Given the description of an element on the screen output the (x, y) to click on. 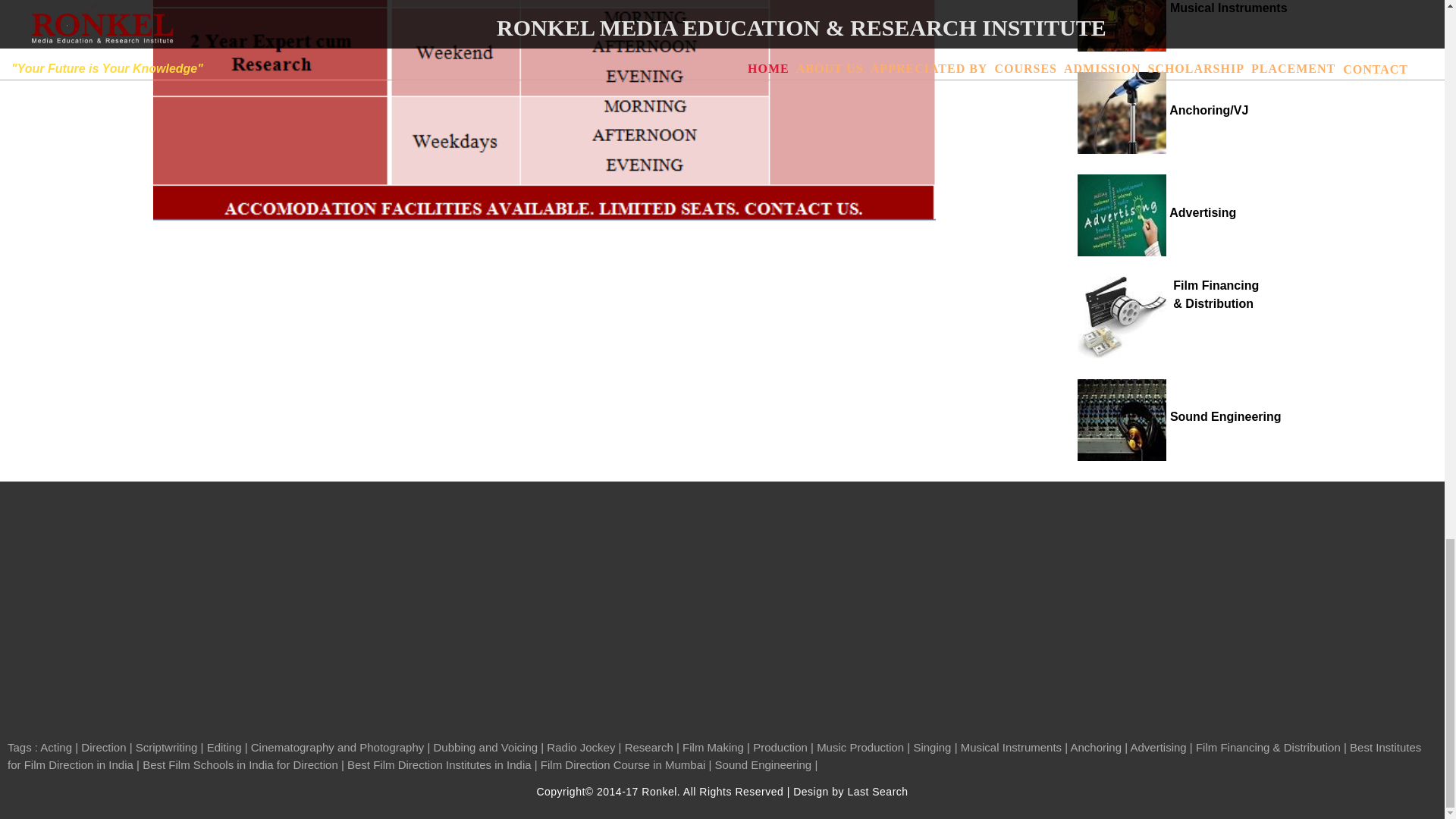
Advertising (1156, 212)
Musical Instruments (1182, 7)
Sound Engineering (1179, 416)
Sound Engineering Courses (1179, 416)
